Given the description of an element on the screen output the (x, y) to click on. 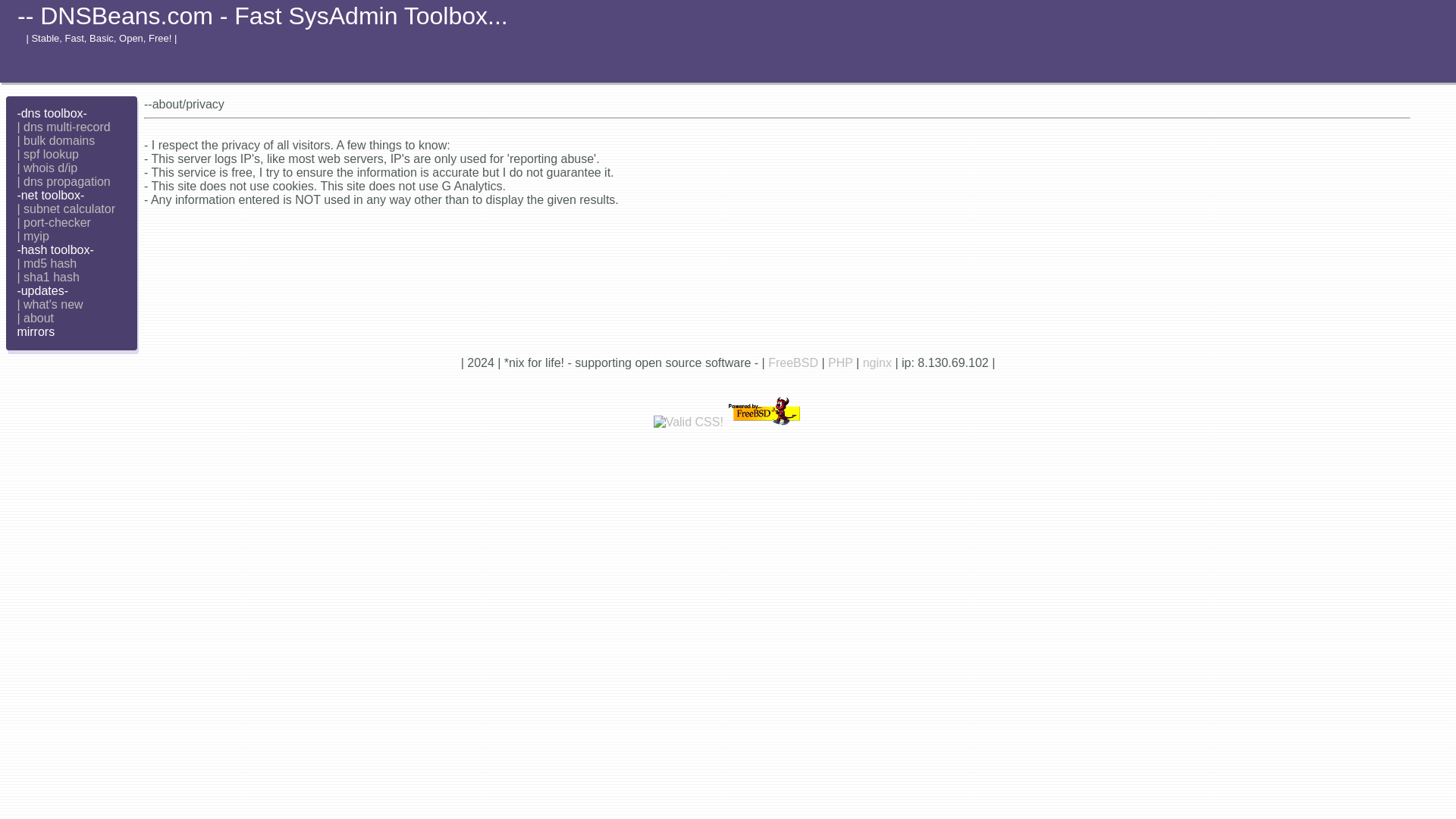
nginx (877, 362)
dns propagation checker (63, 181)
what's new (49, 304)
PHP (840, 362)
whois - domain and ip lookup (46, 167)
sha1 (47, 277)
FreeBSD (793, 362)
mirrors (35, 331)
subnet calculator (65, 208)
md5 (46, 263)
